Given the description of an element on the screen output the (x, y) to click on. 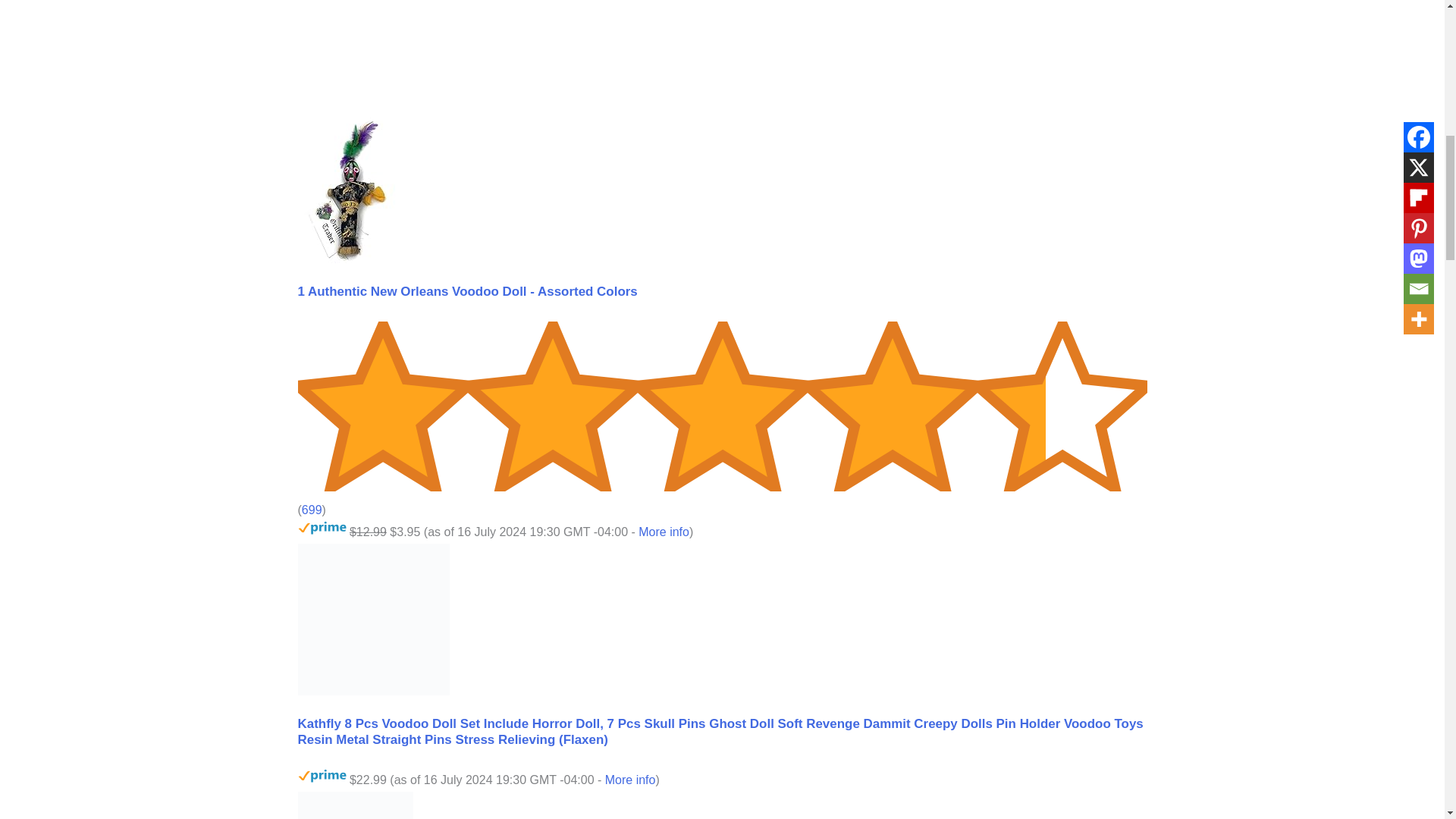
699 (311, 509)
More info (663, 531)
1 Authentic New Orleans Voodoo Doll - Assorted Colors (467, 291)
Available for Amazon Prime (321, 776)
Available for Amazon Prime (321, 528)
4.4 out of 5 stars (722, 486)
